Given the description of an element on the screen output the (x, y) to click on. 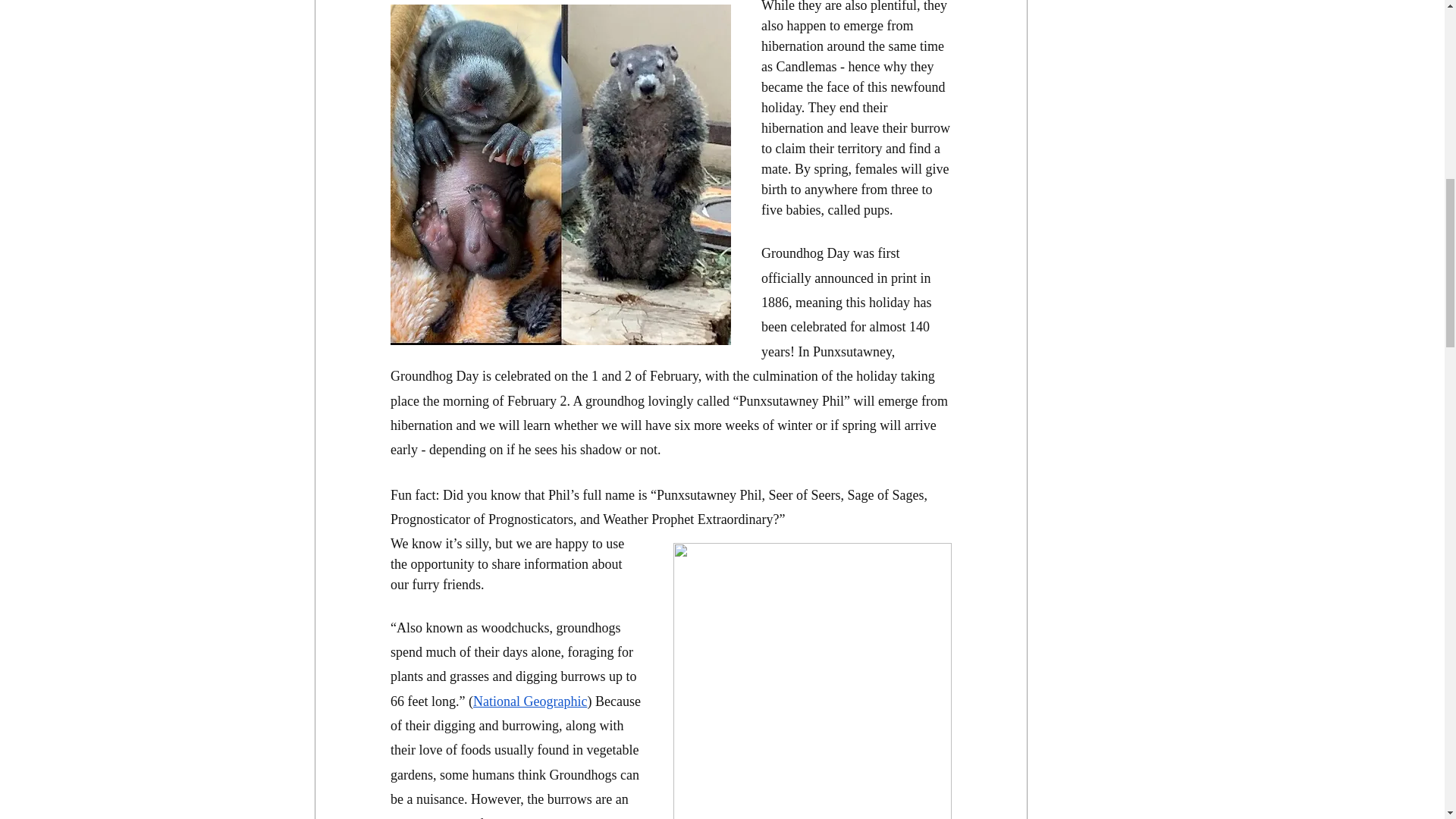
National Geographic (528, 701)
